Given the description of an element on the screen output the (x, y) to click on. 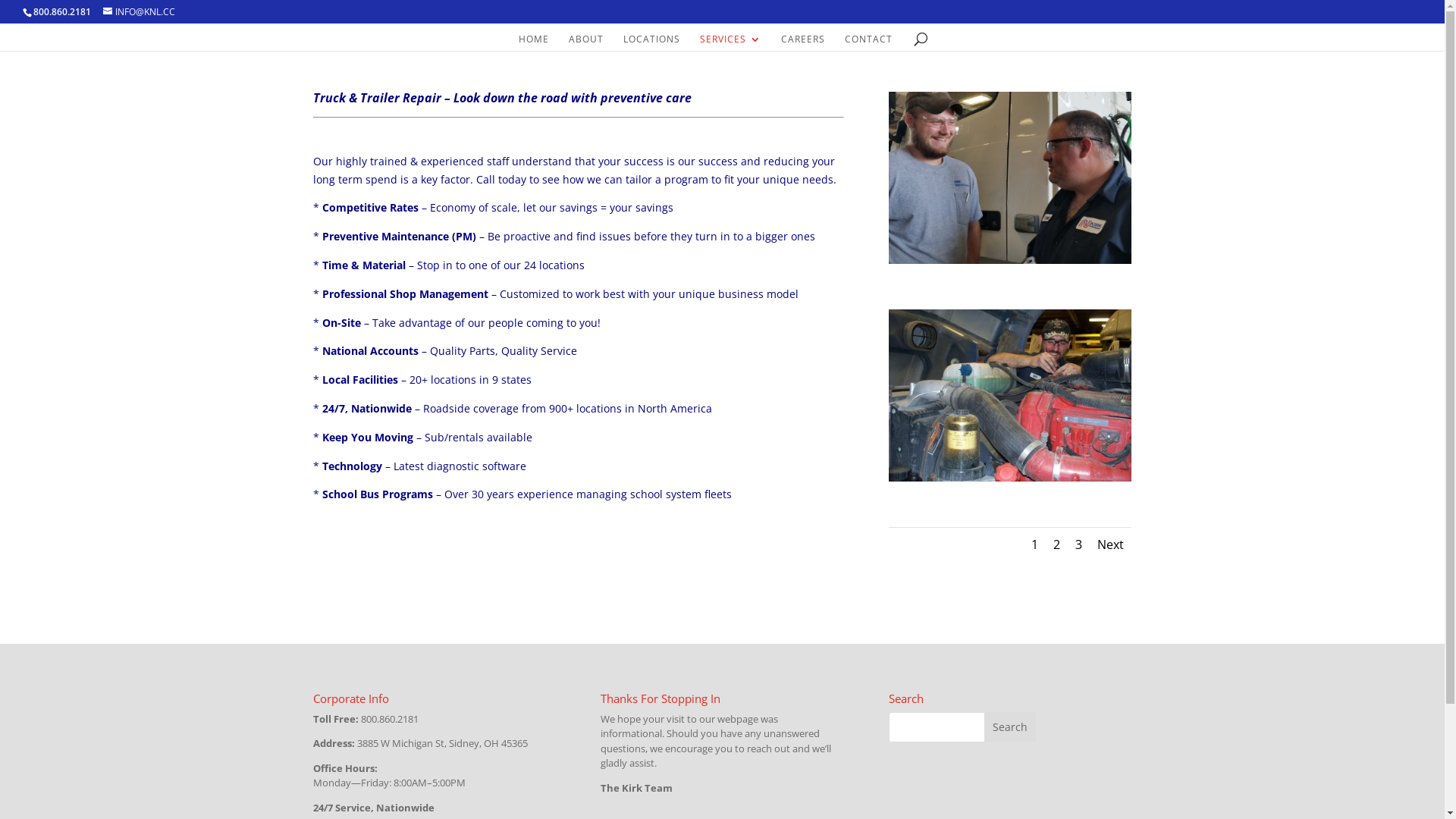
HOME Element type: text (533, 42)
SERVICES Element type: text (730, 42)
Search Element type: text (1009, 727)
LOCATIONS Element type: text (651, 42)
1 Element type: text (1034, 544)
3 Element type: text (1078, 544)
INFO@KNL.CC Element type: text (139, 11)
Diesel Technician From Kirk NationaLease Co. Element type: hover (1009, 259)
Next Element type: text (1110, 544)
ABOUT Element type: text (585, 42)
2 Element type: text (1056, 544)
Kris Phlipot Working Hard Element type: hover (1009, 477)
CONTACT Element type: text (868, 42)
CAREERS Element type: text (803, 42)
